Given the description of an element on the screen output the (x, y) to click on. 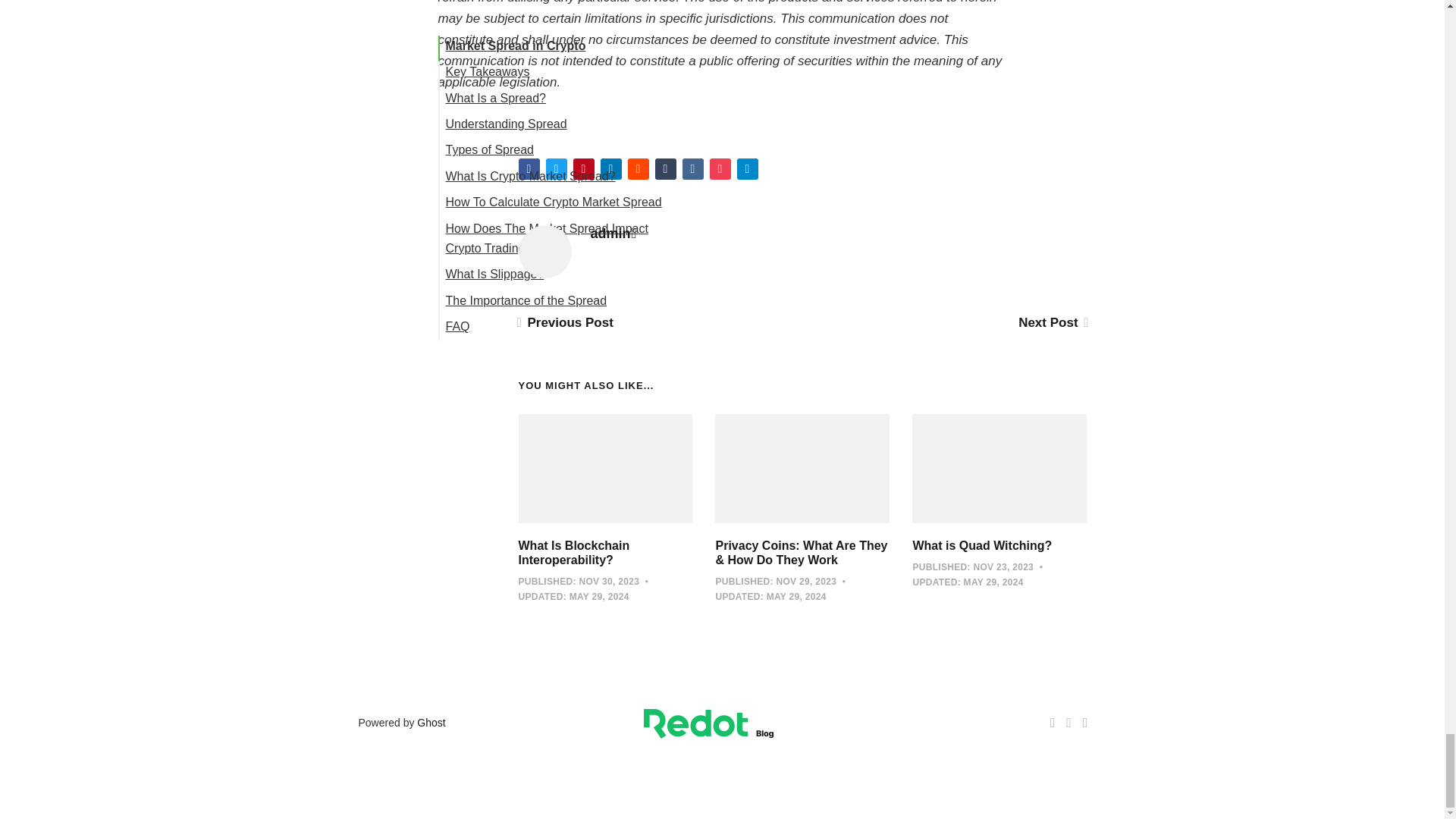
Previous Post (565, 322)
What Is Blockchain Interoperability? (574, 552)
Next Post (1051, 322)
